Given the description of an element on the screen output the (x, y) to click on. 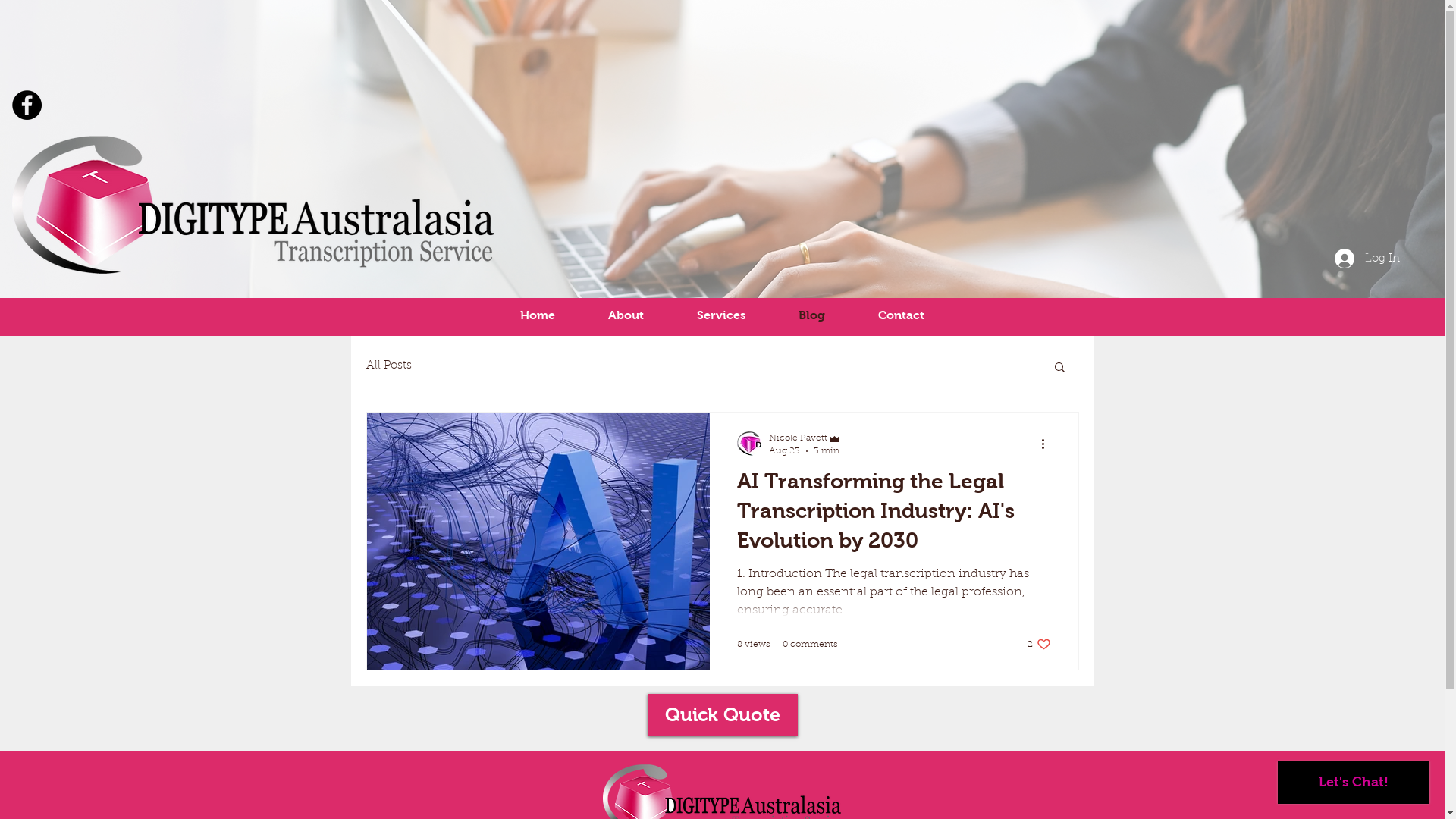
Contact Element type: text (900, 315)
Nicole Pavett Element type: text (804, 437)
Services Element type: text (720, 315)
All Posts Element type: text (388, 366)
2 likes. Post not marked as liked
2 Element type: text (1038, 644)
Blog Element type: text (811, 315)
Quick Quote Element type: text (722, 714)
0 comments Element type: text (809, 643)
Log In Element type: text (1367, 258)
Home Element type: text (536, 315)
About Element type: text (624, 315)
